Given the description of an element on the screen output the (x, y) to click on. 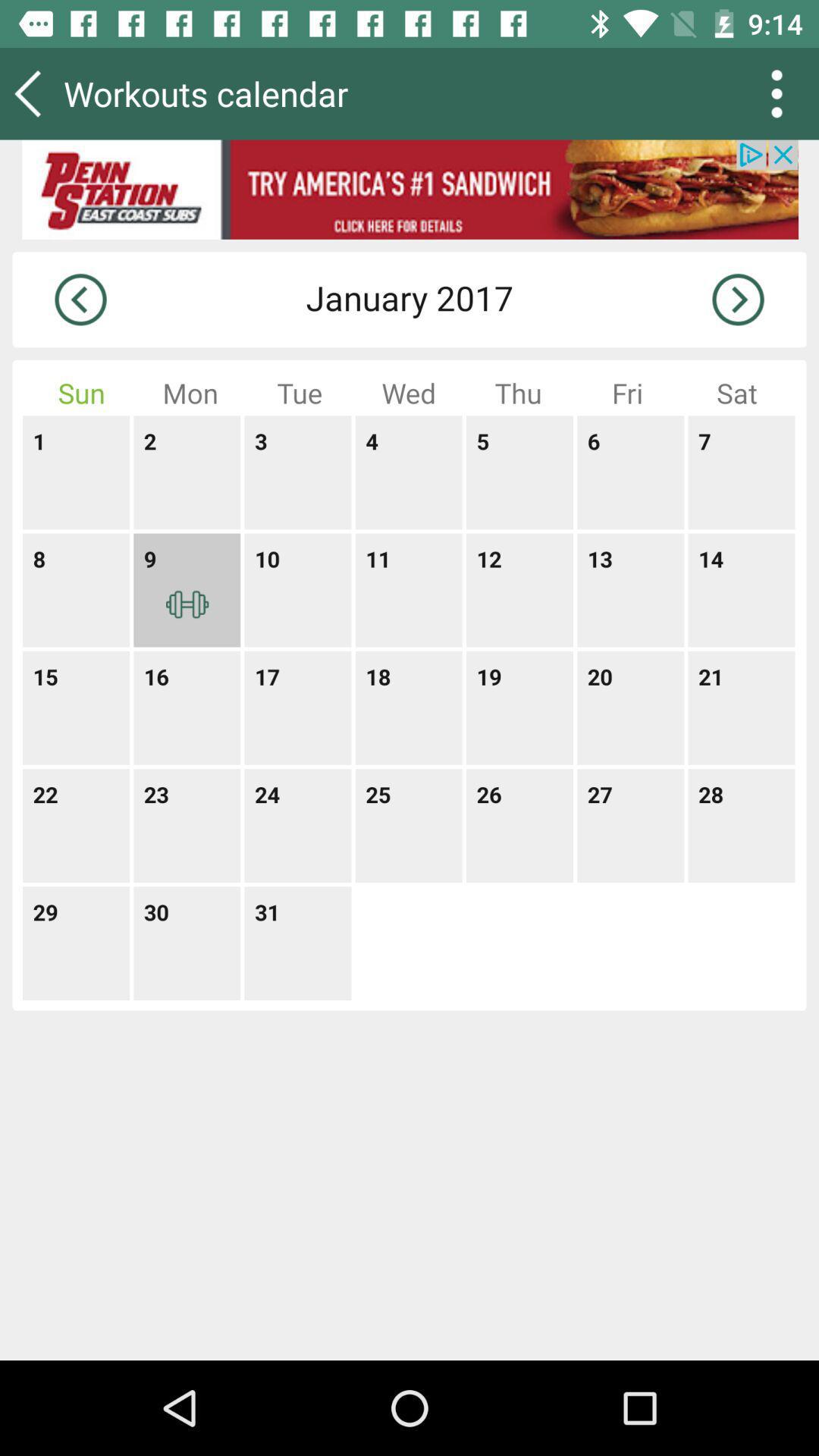
advertisement for sandwich (409, 189)
